Given the description of an element on the screen output the (x, y) to click on. 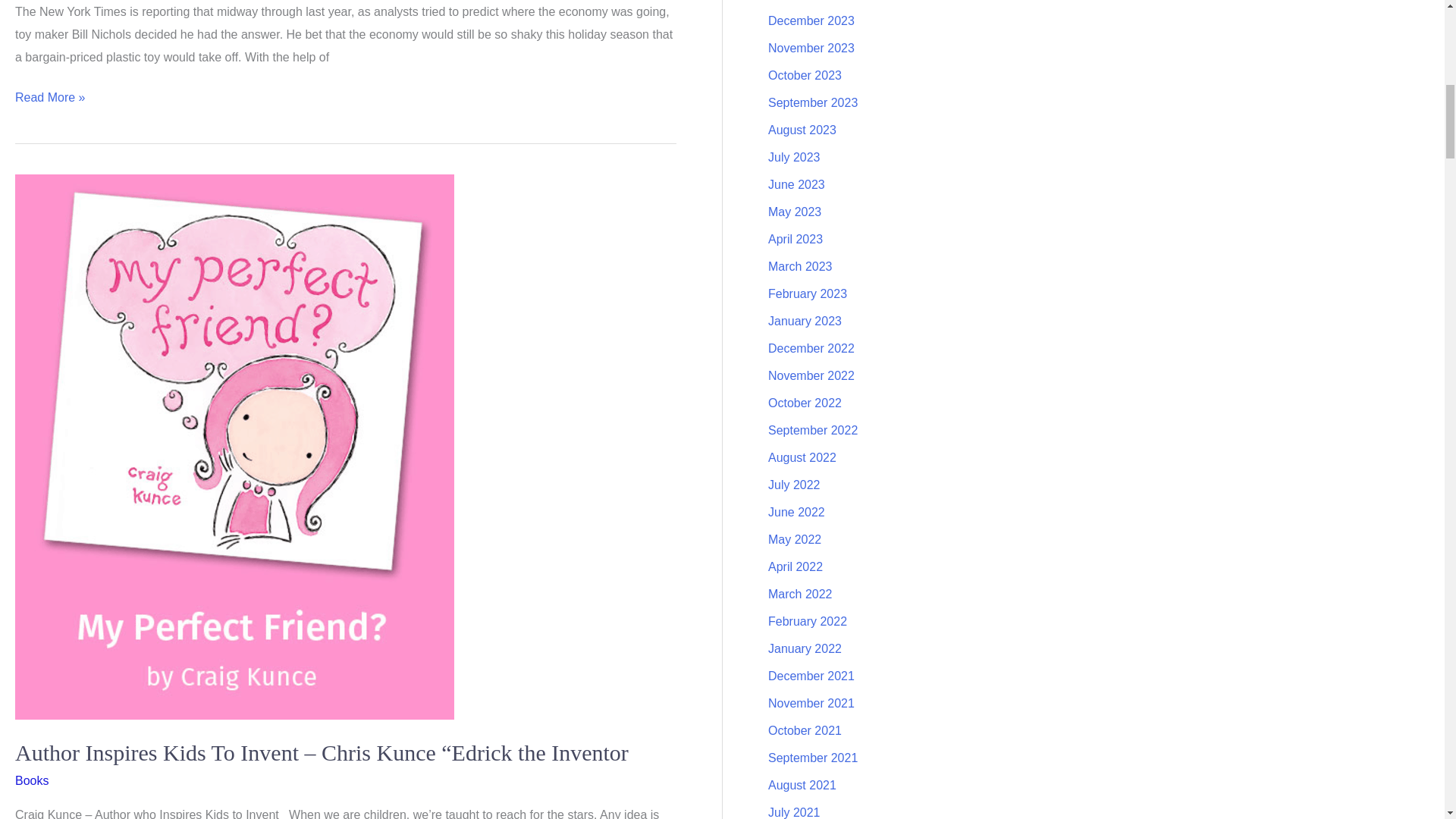
Books (31, 780)
